Given the description of an element on the screen output the (x, y) to click on. 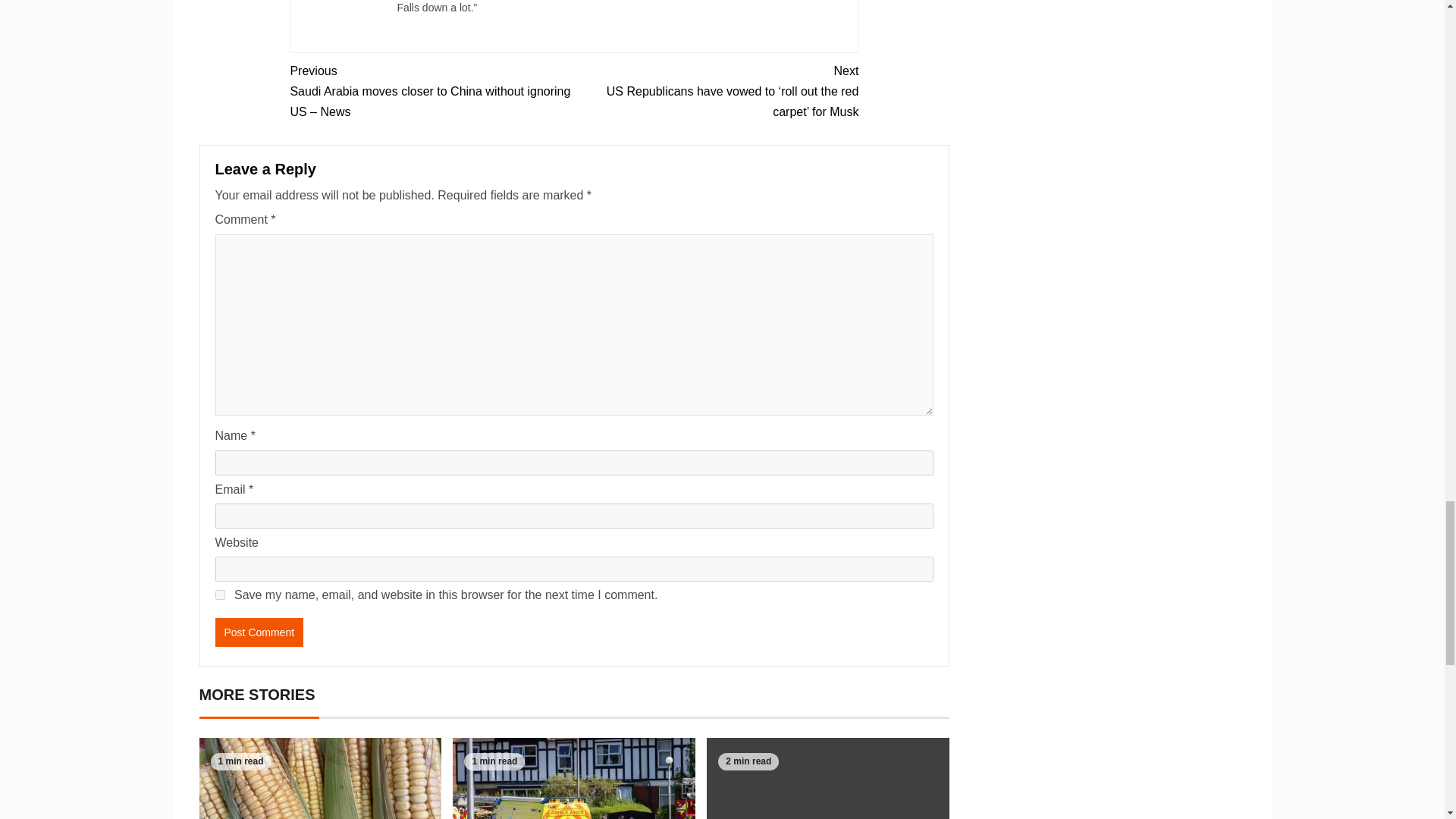
Post Comment (259, 632)
yes (220, 594)
